Given the description of an element on the screen output the (x, y) to click on. 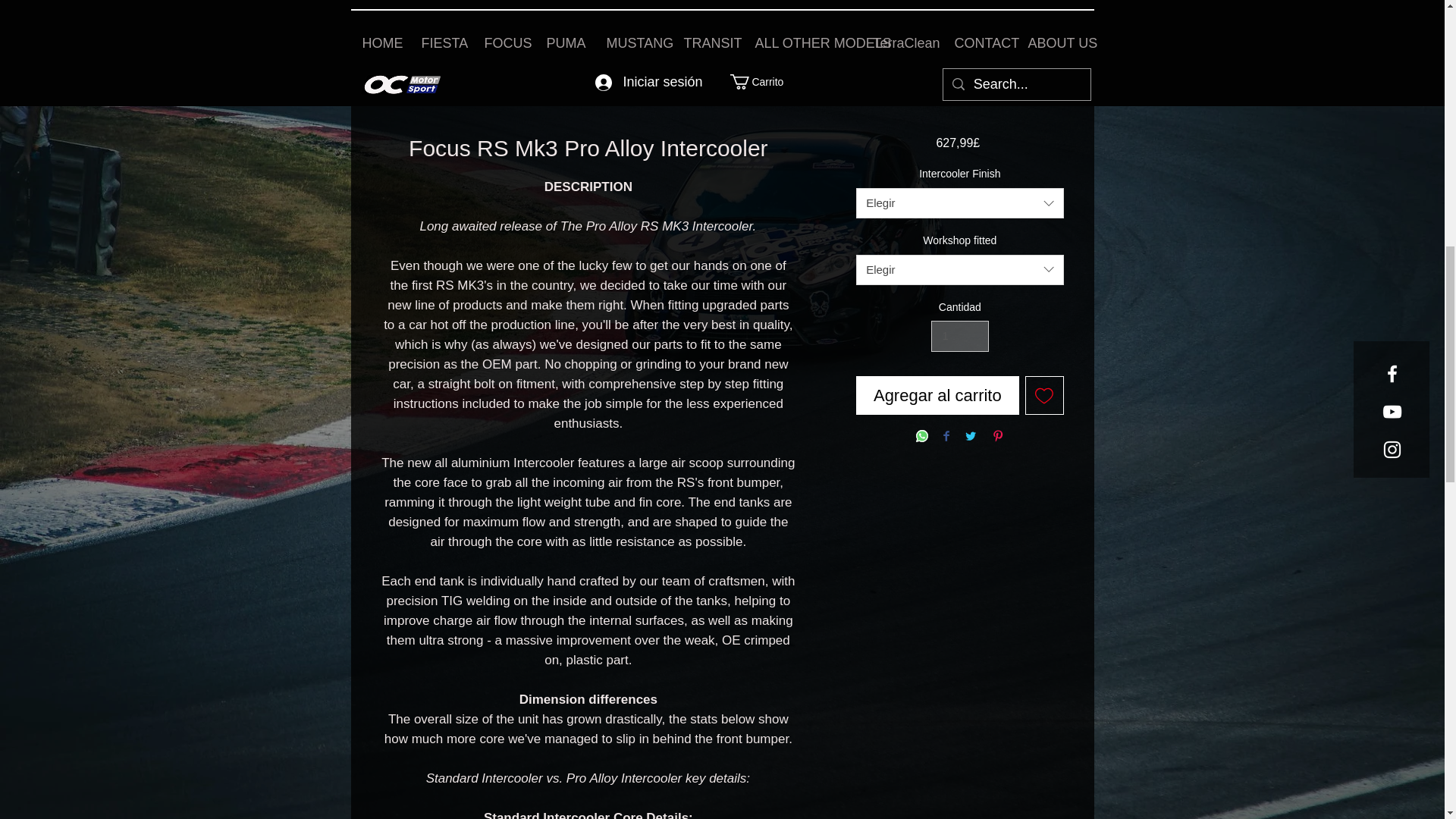
1 (959, 336)
